Given the description of an element on the screen output the (x, y) to click on. 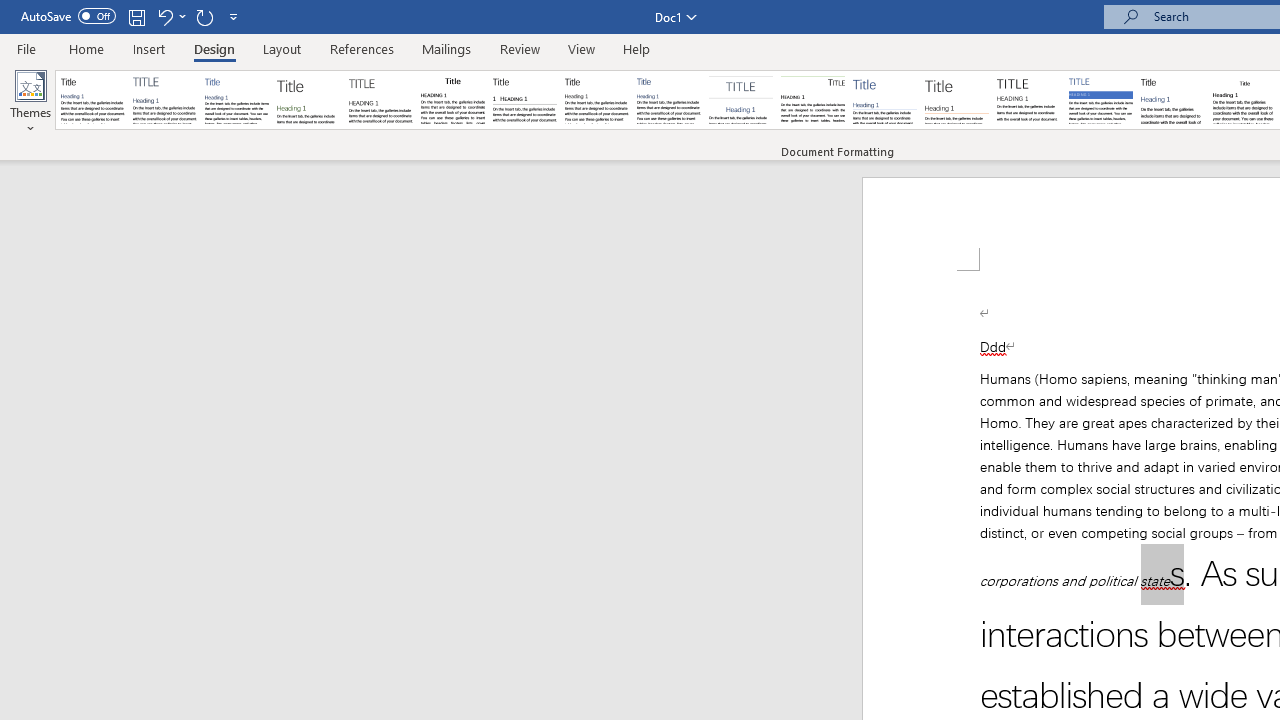
Black & White (Word 2013) (596, 100)
Word (1172, 100)
Basic (Simple) (236, 100)
Undo Apply Quick Style Set (170, 15)
Shaded (1100, 100)
Minimalist (1028, 100)
